Given the description of an element on the screen output the (x, y) to click on. 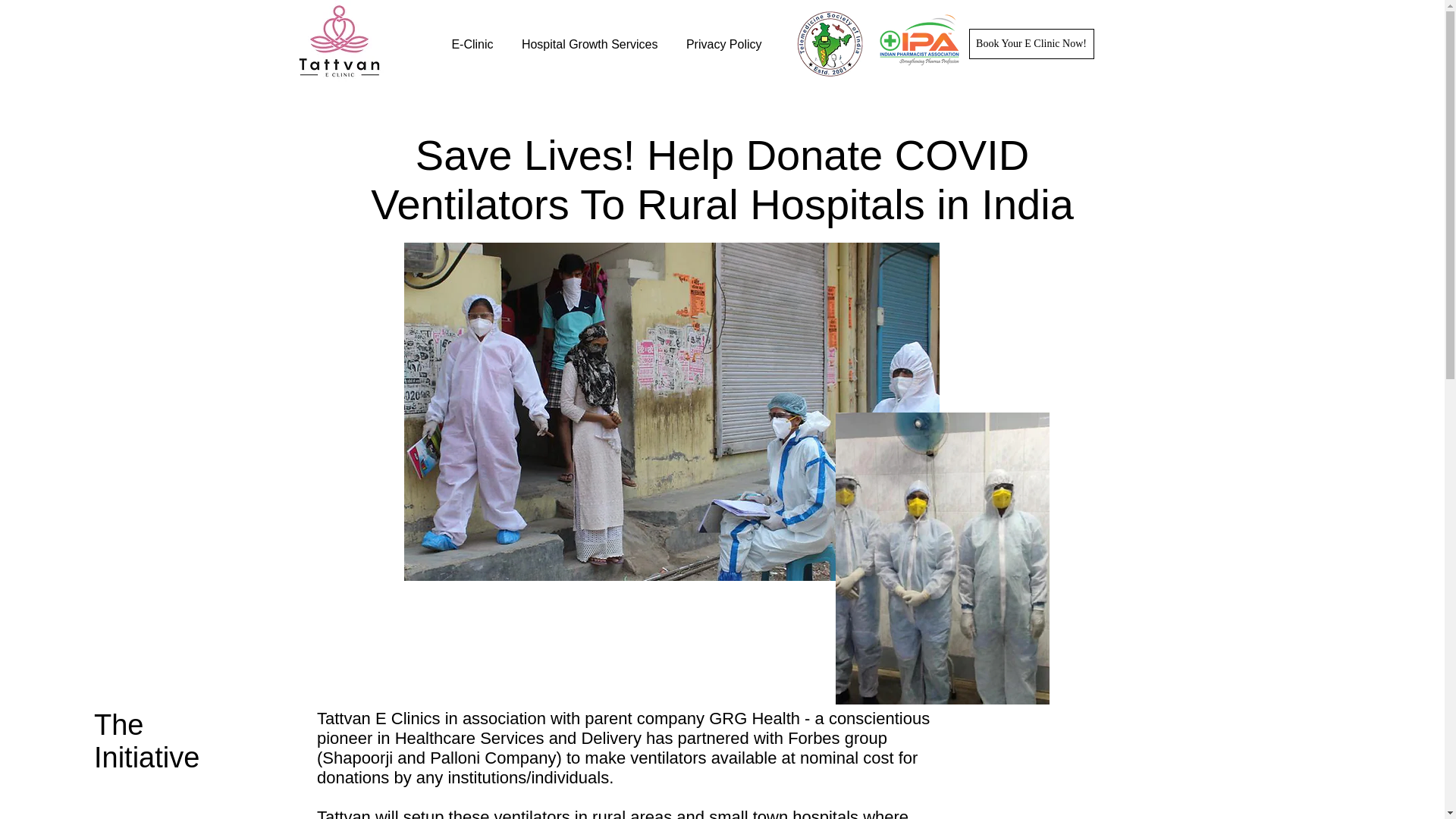
Privacy Policy (720, 43)
Hospital Growth Services (587, 43)
Book Your E Clinic Now! (1031, 43)
E-Clinic (466, 43)
